Given the description of an element on the screen output the (x, y) to click on. 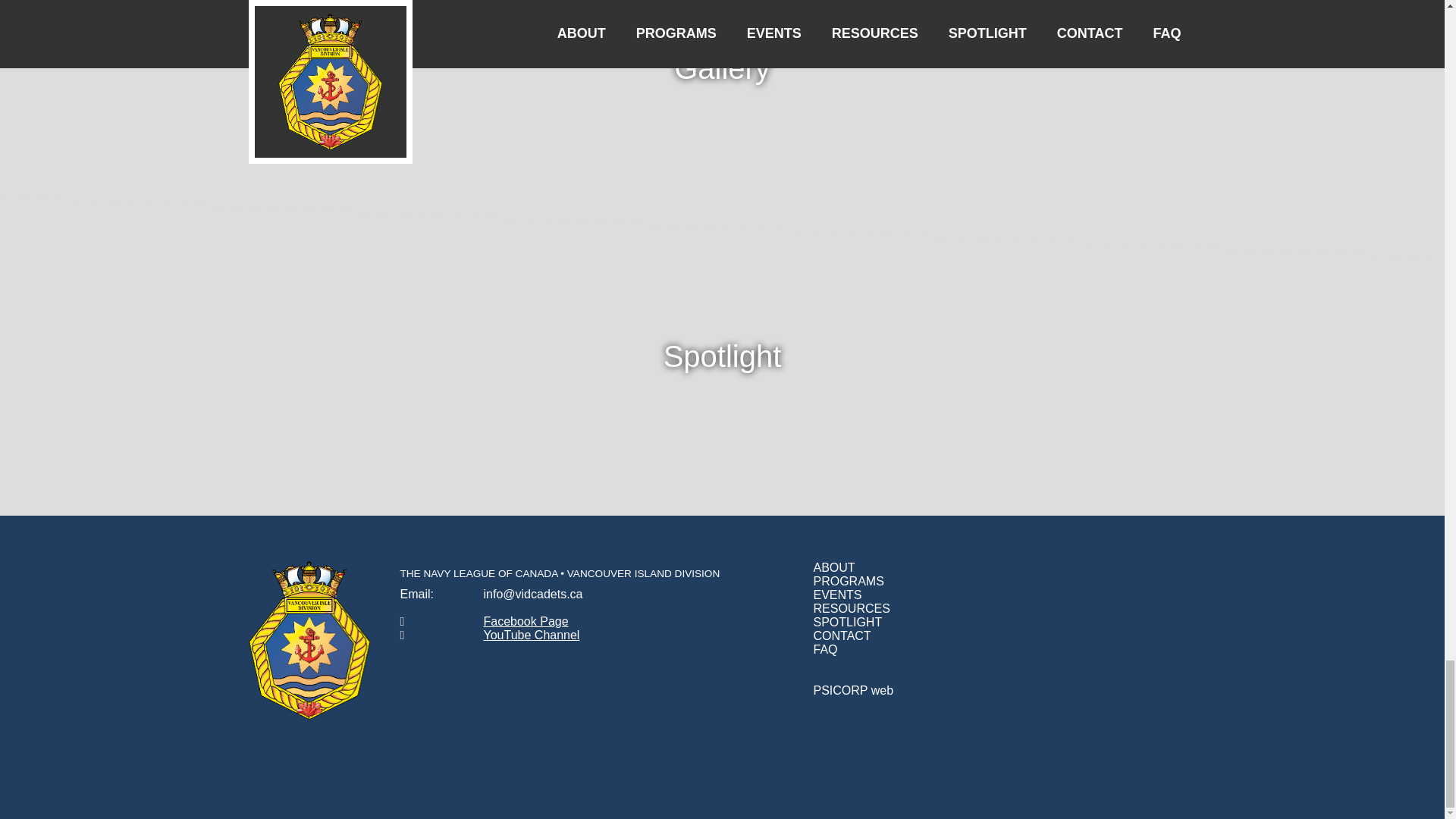
CONTACT (841, 635)
Facebook Page (526, 621)
ABOUT (833, 567)
SPOTLIGHT (847, 621)
EVENTS (836, 594)
YouTube Channel (531, 634)
FAQ (824, 649)
RESOURCES (850, 608)
PROGRAMS (847, 581)
PSICORP web (852, 689)
